Given the description of an element on the screen output the (x, y) to click on. 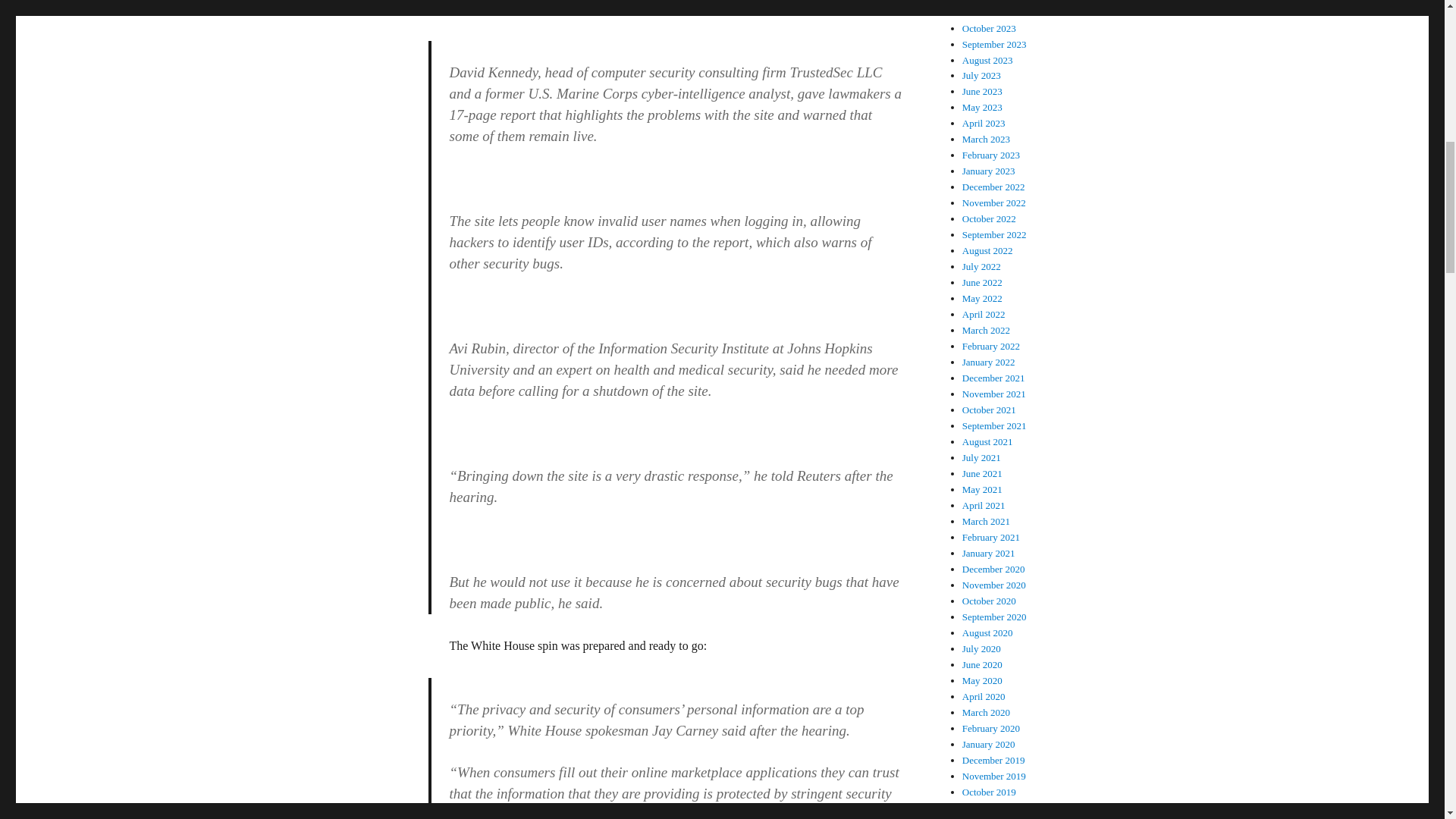
September 2023 (994, 43)
December 2023 (993, 1)
October 2023 (989, 28)
November 2023 (994, 12)
from Reuters (510, 8)
